Given the description of an element on the screen output the (x, y) to click on. 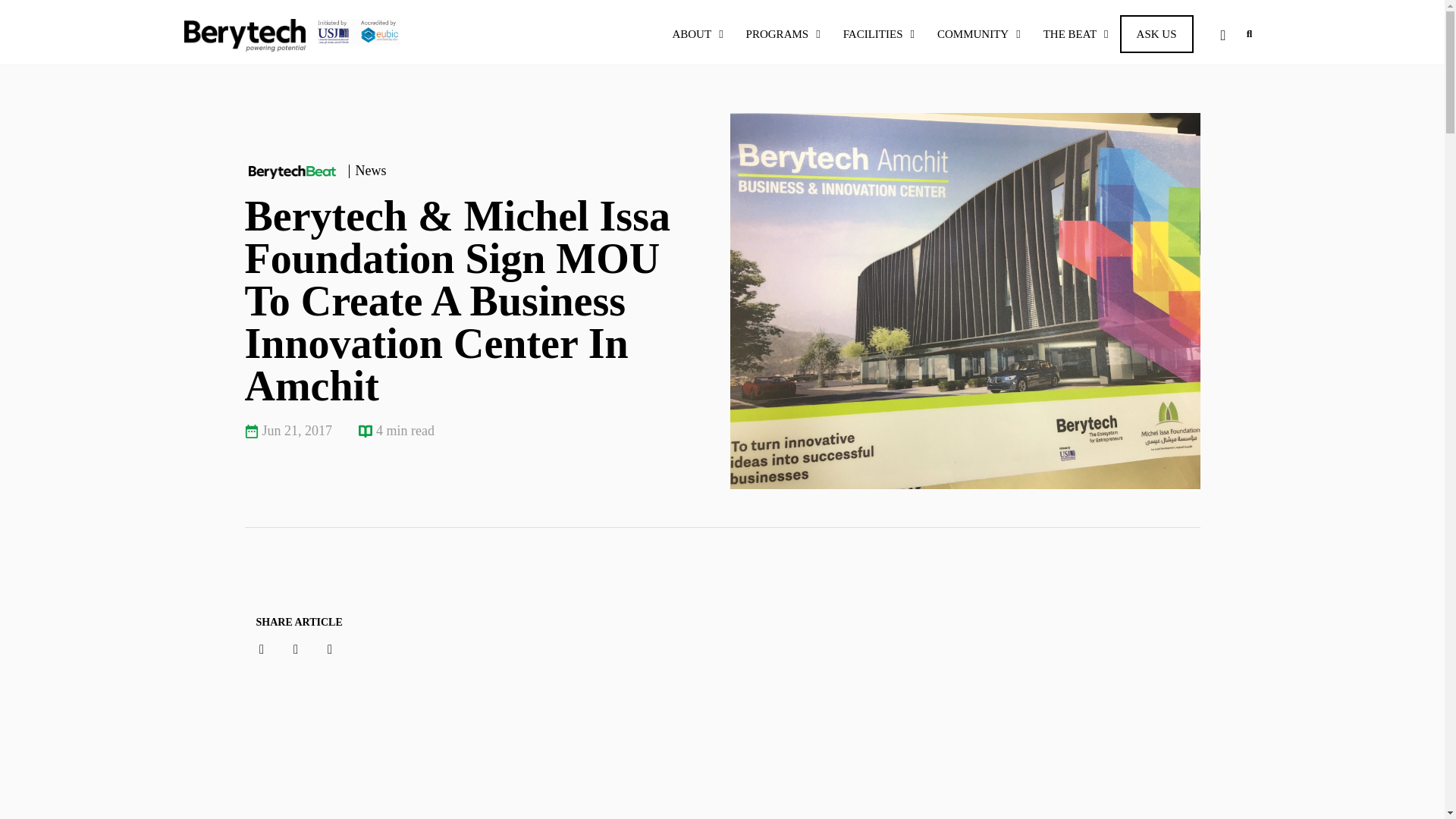
ABOUT (697, 34)
Berytech Milestone: BIC signed for Amshit (718, 671)
FACILITIES (878, 34)
PROGRAMS (783, 34)
THE BEAT (1075, 34)
ASK US (1156, 34)
COMMUNITY (979, 34)
